Given the description of an element on the screen output the (x, y) to click on. 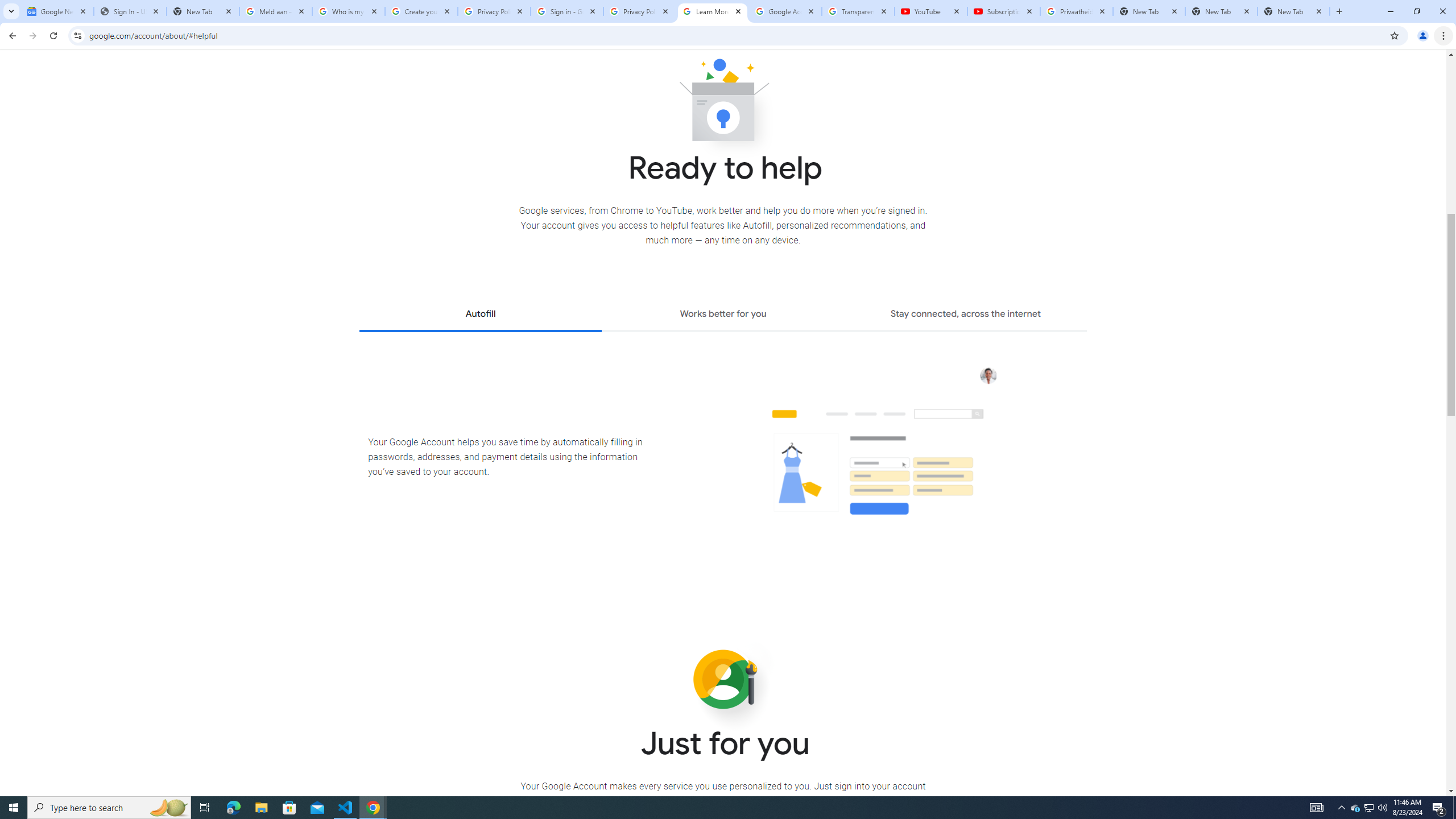
Sign In - USA TODAY (129, 11)
Just for you (722, 679)
Who is my administrator? - Google Account Help (348, 11)
